Given the description of an element on the screen output the (x, y) to click on. 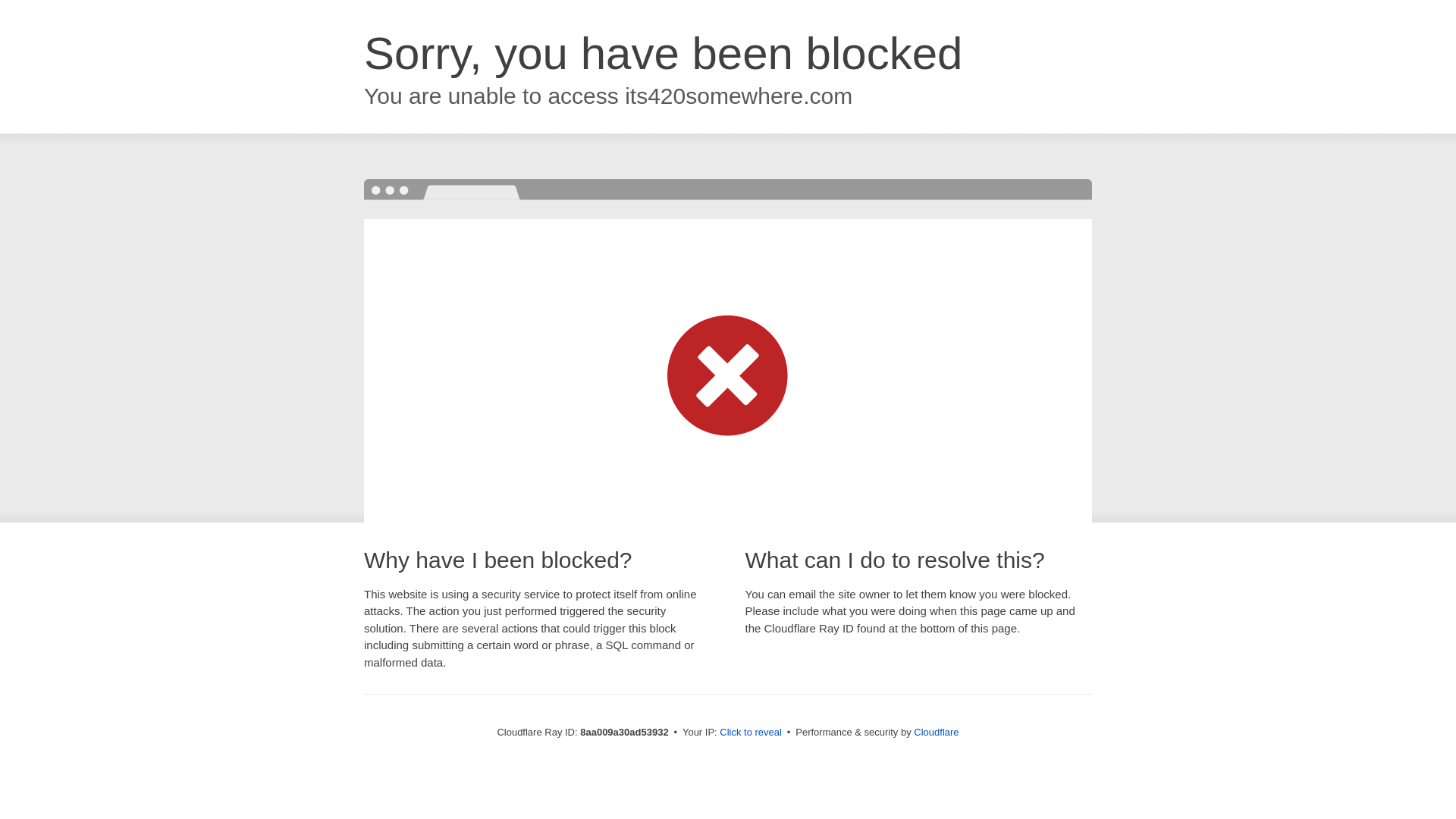
Cloudflare (936, 731)
Click to reveal (750, 732)
